Given the description of an element on the screen output the (x, y) to click on. 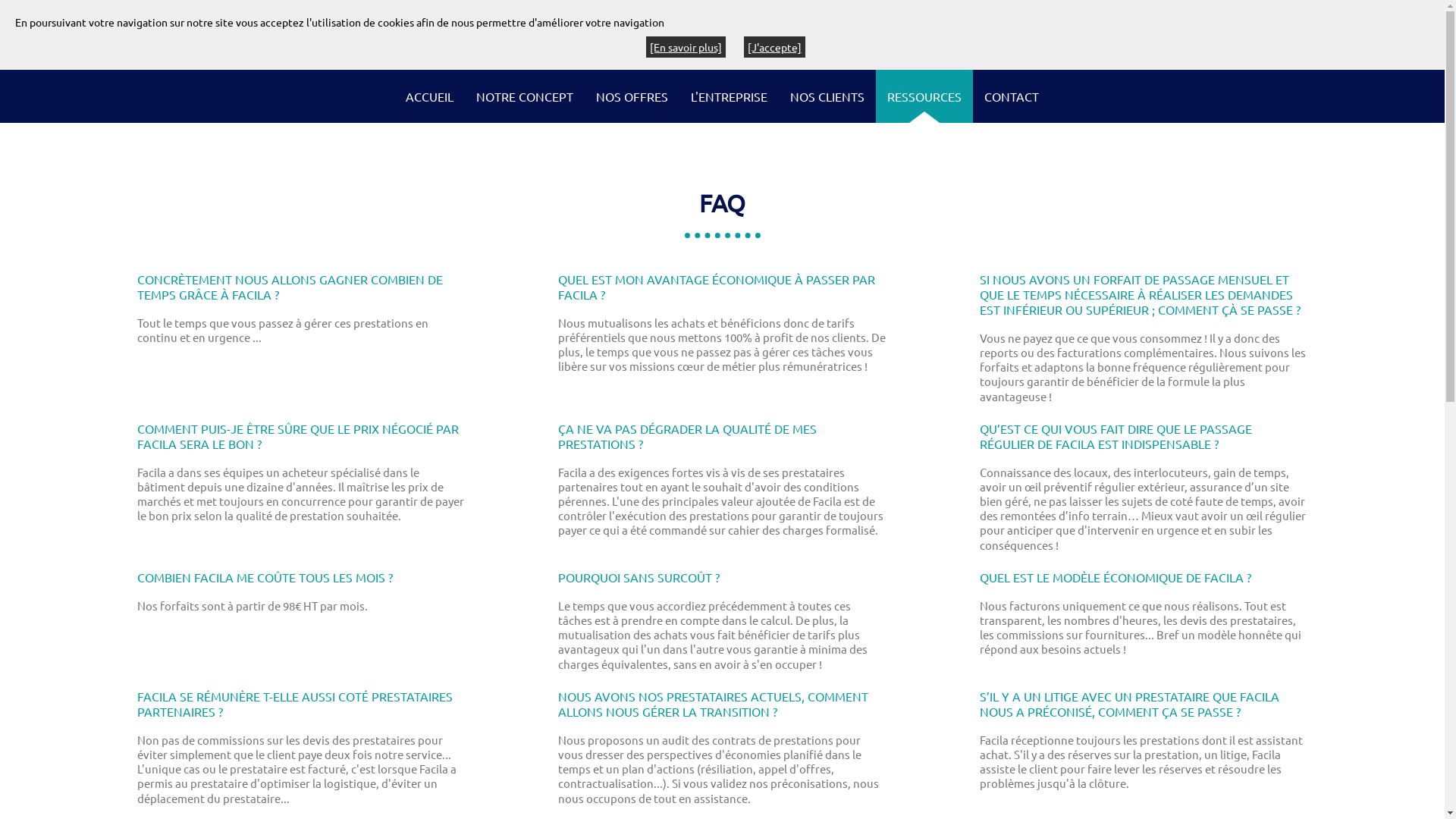
[En savoir plus] Element type: text (685, 46)
[J'accepte] Element type: text (773, 46)
Facebook Element type: hover (13, 36)
NOS OFFRES Element type: text (631, 95)
Linkedin Element type: hover (47, 36)
  ESPACE PRO Element type: text (1326, 30)
NOS CLIENTS Element type: text (826, 95)
NOTRE CONCEPT Element type: text (524, 95)
RESSOURCES Element type: text (923, 95)
CONTACT Element type: text (1011, 95)
L'ENTREPRISE Element type: text (728, 95)
ACCUEIL Element type: text (429, 95)
